Given the description of an element on the screen output the (x, y) to click on. 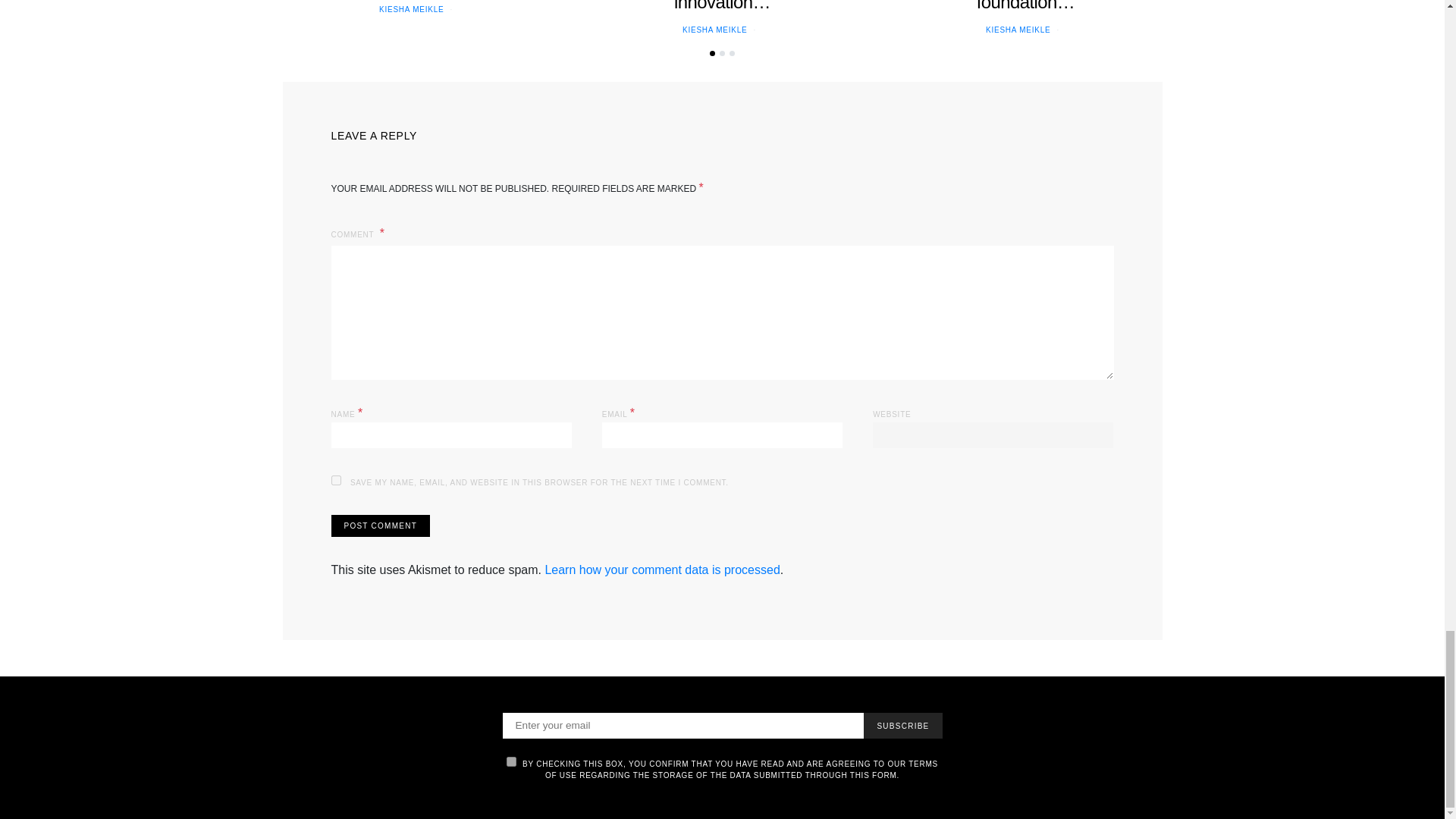
on (511, 761)
View all posts by Kiesha Meikle (1017, 29)
yes (335, 480)
View all posts by Kiesha Meikle (411, 8)
Post Comment (379, 526)
View all posts by Kiesha Meikle (714, 29)
